Given the description of an element on the screen output the (x, y) to click on. 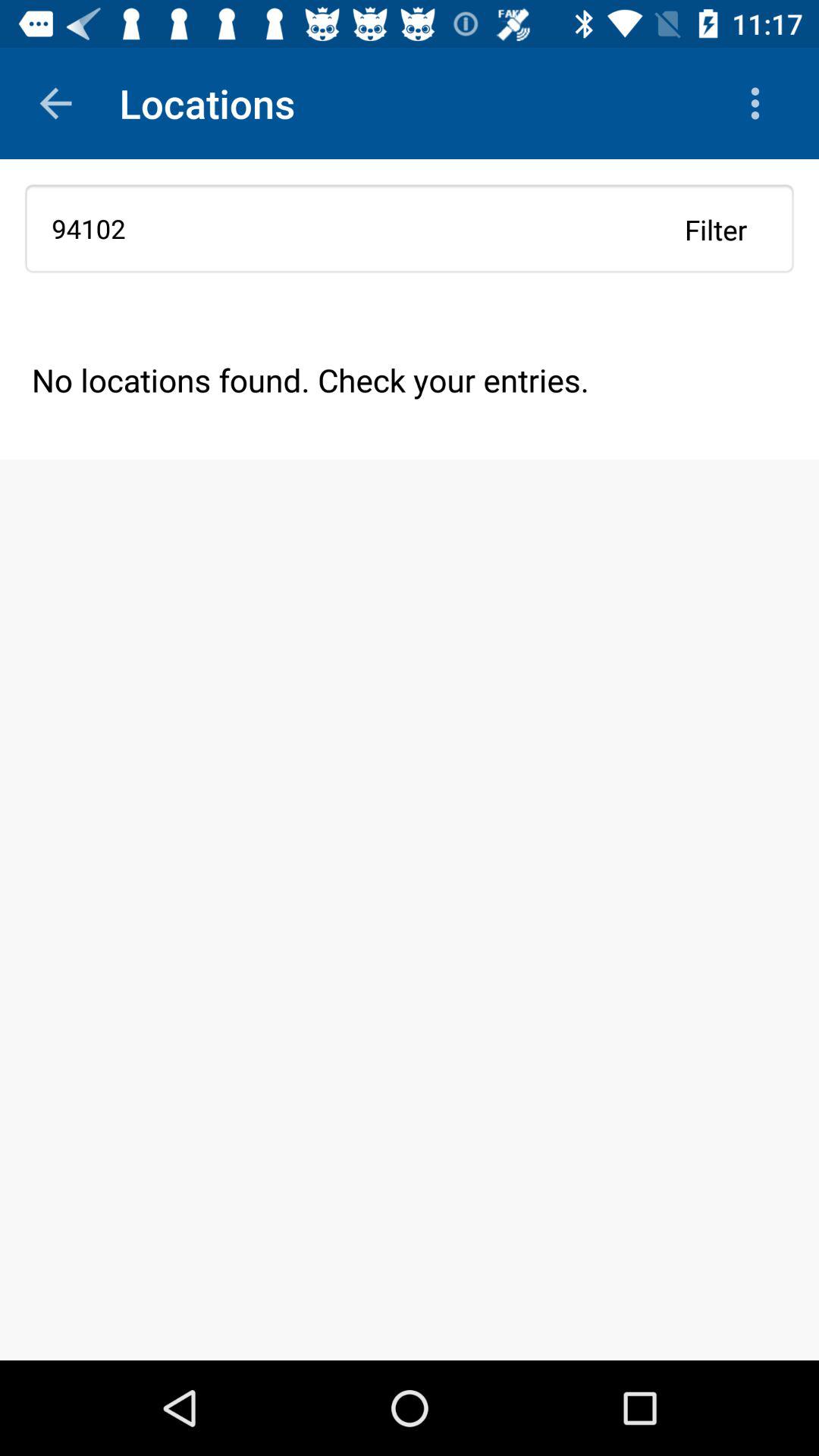
turn off the icon above no locations found item (409, 228)
